Given the description of an element on the screen output the (x, y) to click on. 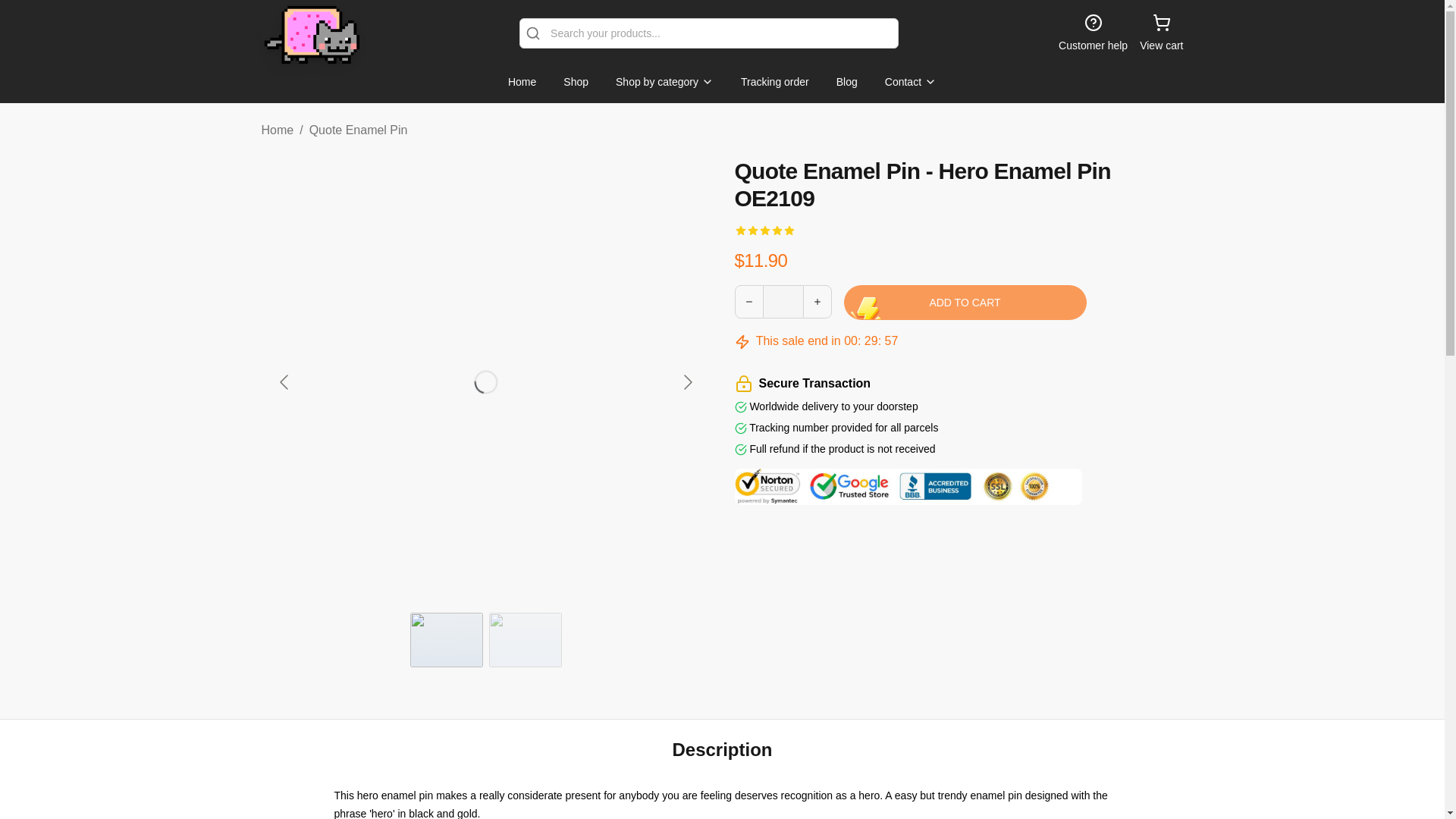
Home (277, 130)
customer help (1092, 33)
Quote Enamel Pin (357, 130)
Previous slide (283, 382)
Next slide (685, 382)
Home (522, 81)
Lucommerce (309, 33)
Contact (910, 81)
Shop by category (664, 81)
Blog (846, 81)
Tracking order (775, 81)
View cart (1161, 33)
Customer help (1092, 33)
view cart (1161, 33)
Shop (575, 81)
